Given the description of an element on the screen output the (x, y) to click on. 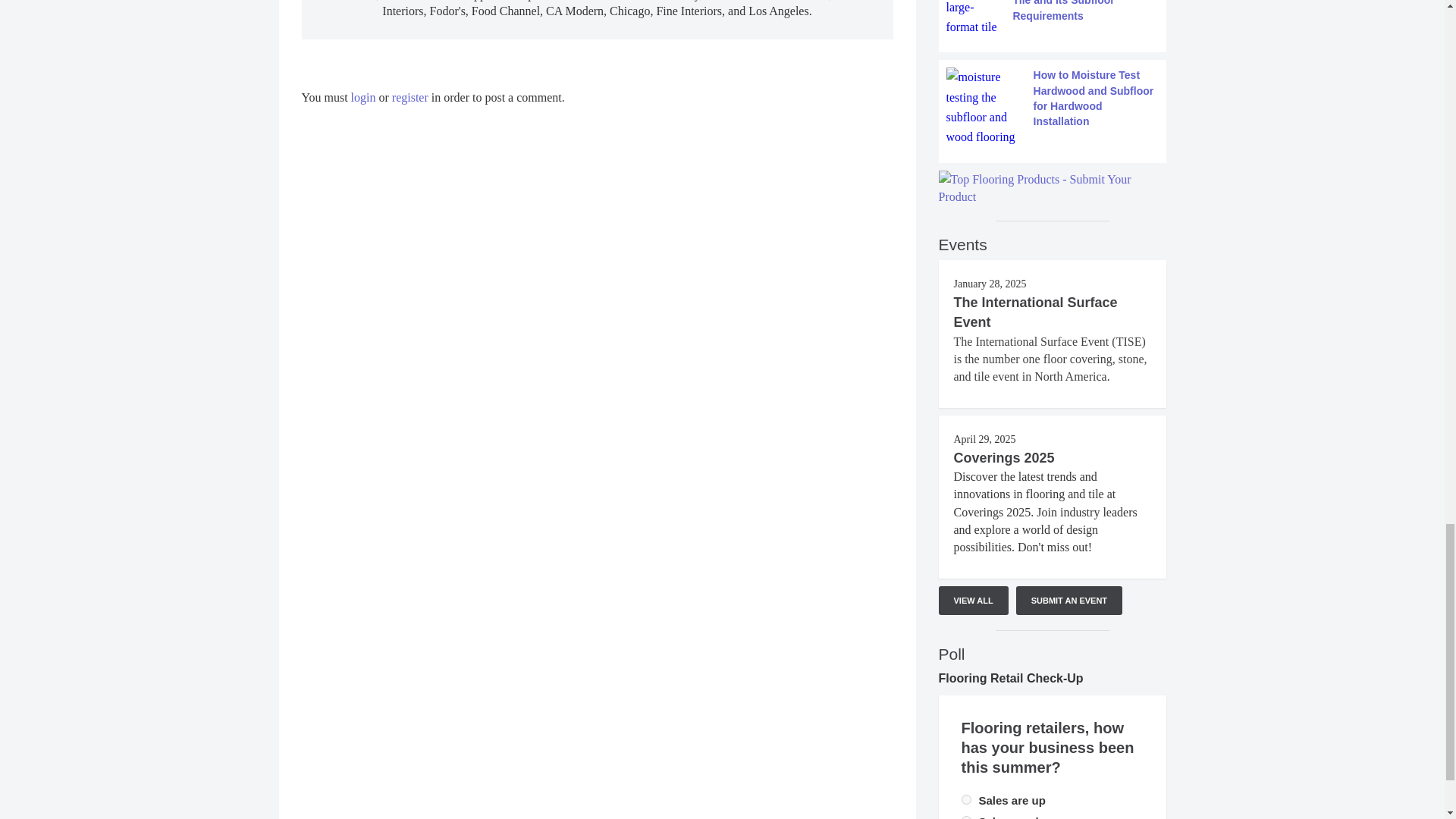
344 (965, 799)
Coverings 2025 (1003, 458)
342 (965, 817)
The International Surface Event (1035, 312)
